Given the description of an element on the screen output the (x, y) to click on. 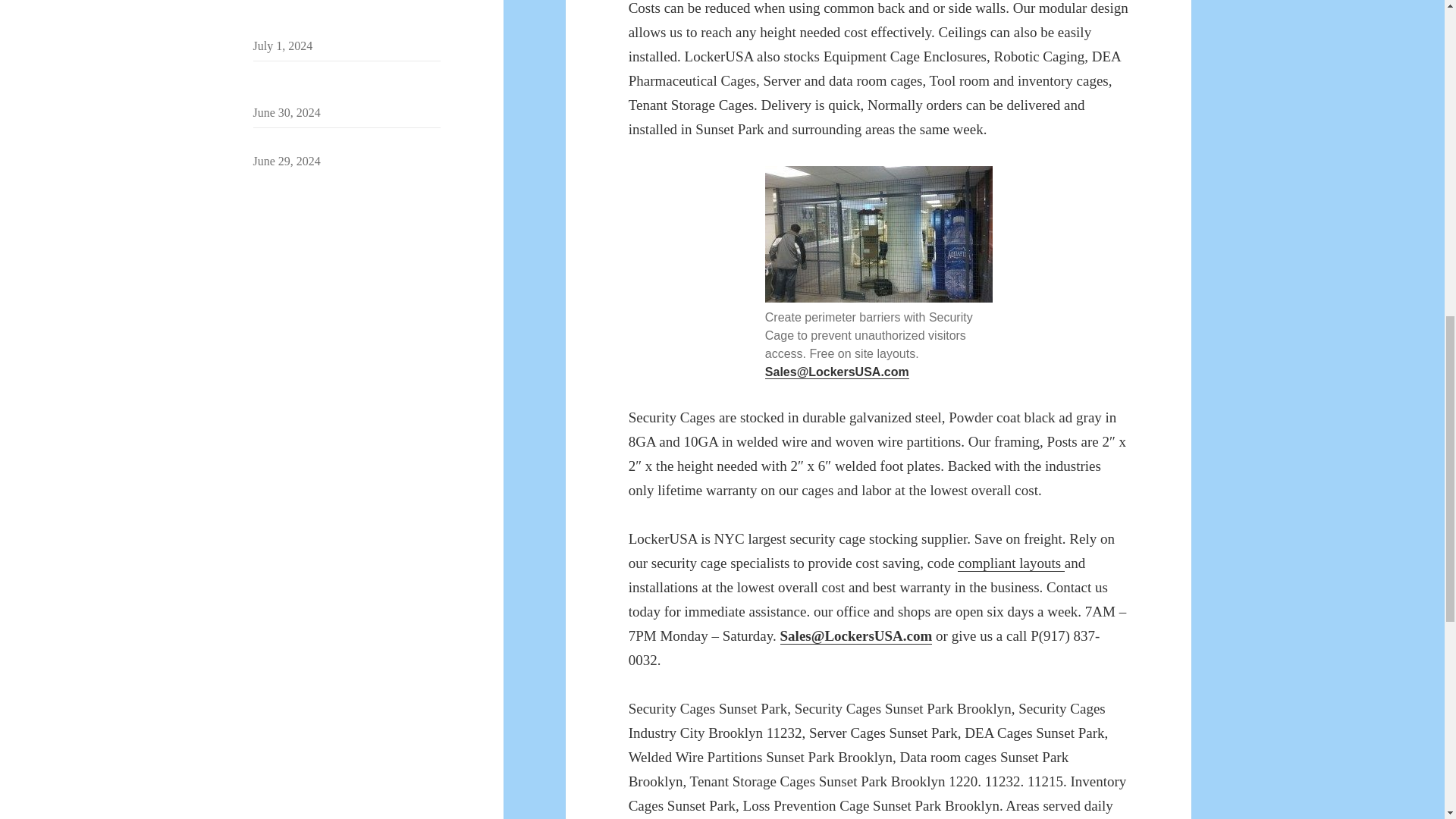
Security Storage Cages Ocean County (346, 142)
Security Storage Cages Middlesex County (336, 18)
compliant layouts (1011, 563)
Security Storage Cages Monmouth County (338, 84)
